Given the description of an element on the screen output the (x, y) to click on. 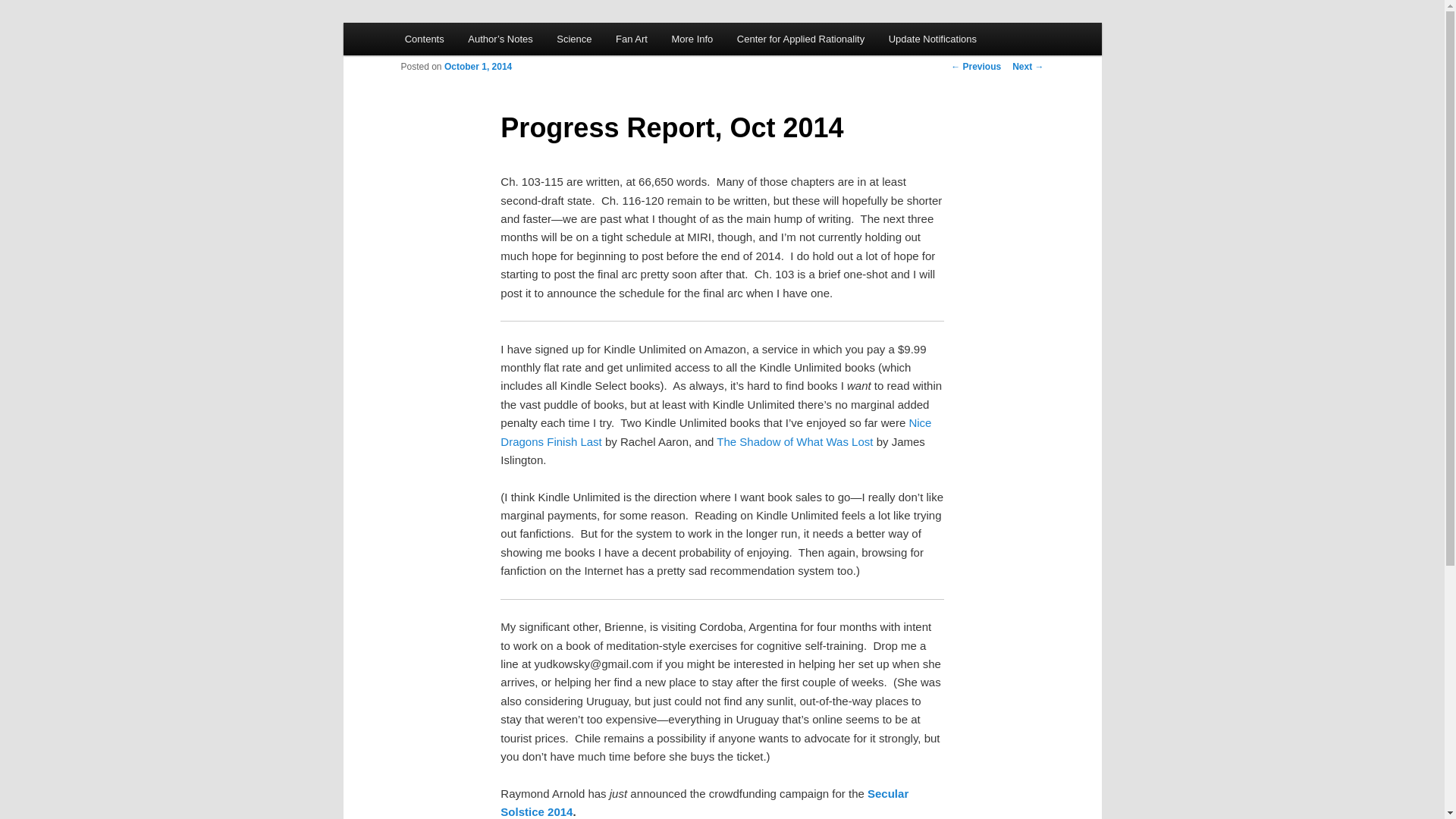
October 1, 2014 (478, 66)
Nice Dragons Finish Last (715, 431)
Secular Solstice 2014 (704, 802)
Fan Art (631, 38)
Update Notifications (932, 38)
More Info (692, 38)
Science (574, 38)
5:00 pm (478, 66)
Center for Applied Rationality (800, 38)
Contents (425, 38)
The Shadow of What Was Lost (794, 440)
